Given the description of an element on the screen output the (x, y) to click on. 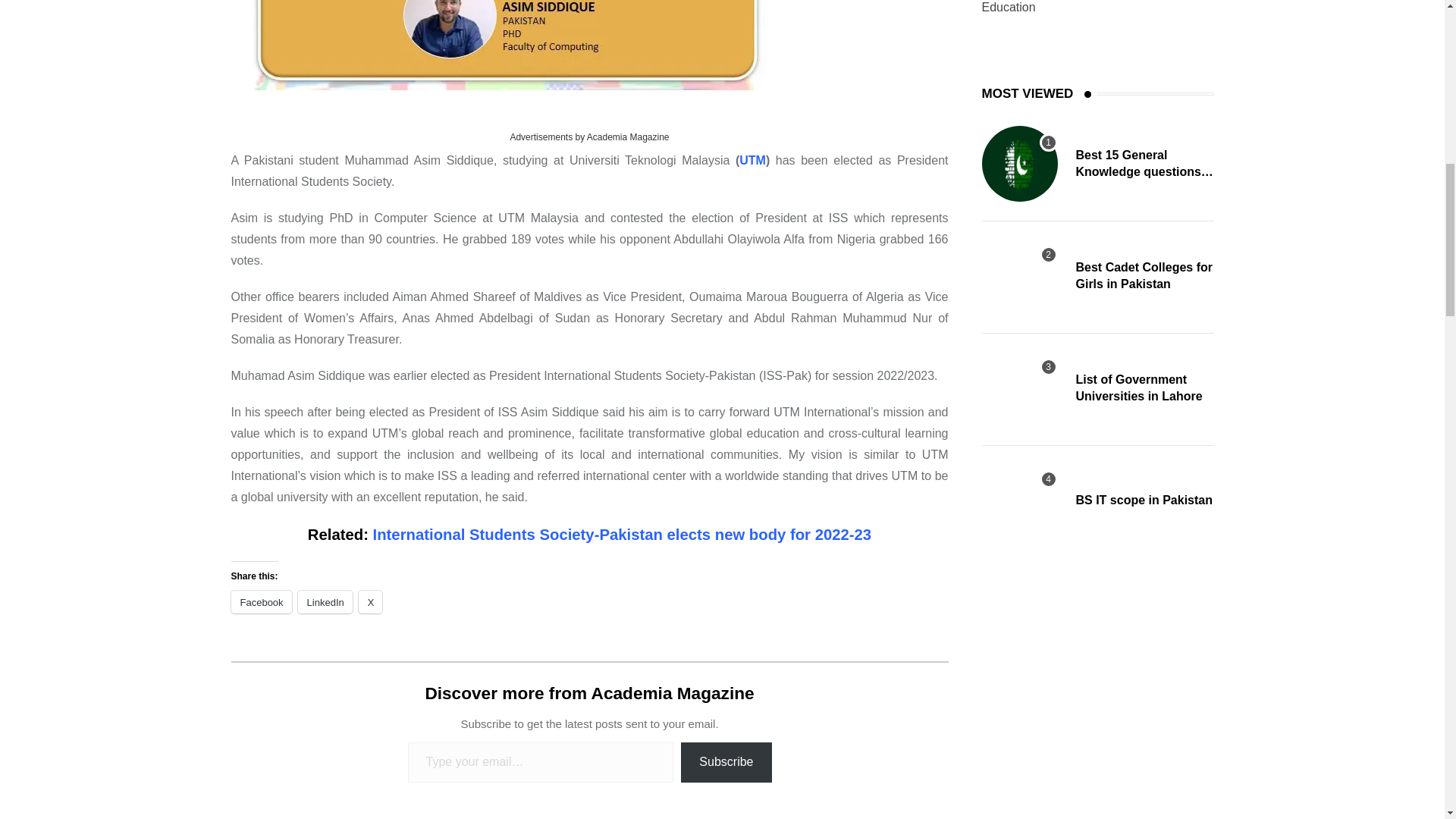
Click to share on X (370, 601)
Click to share on LinkedIn (325, 601)
Best 15 General Knowledge questions about Pakistan (1019, 163)
Please fill in this field. (540, 762)
Click to share on Facebook (260, 601)
